Given the description of an element on the screen output the (x, y) to click on. 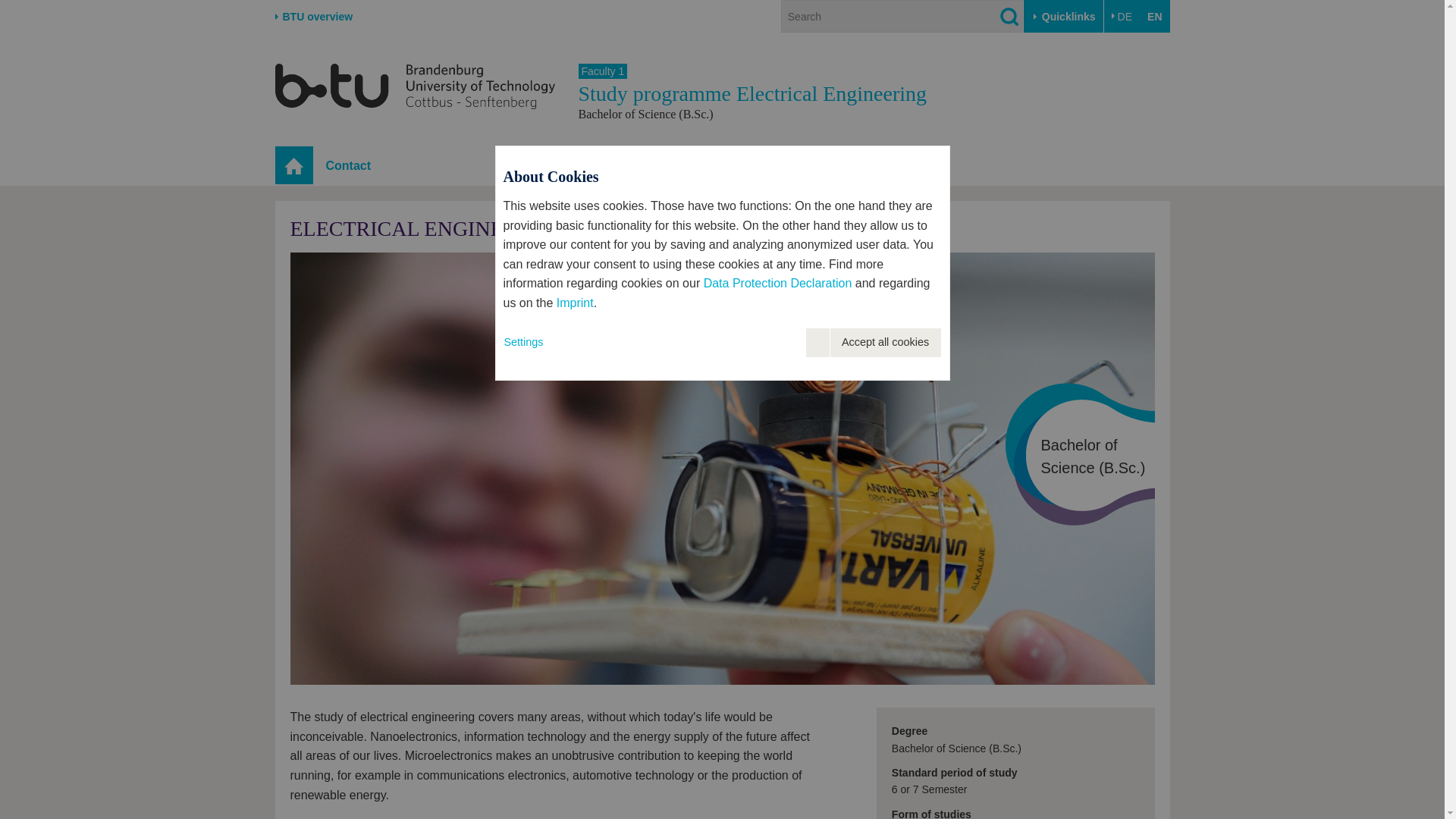
Quicklinks (1063, 16)
DE (1121, 16)
BTU overview (313, 16)
